Given the description of an element on the screen output the (x, y) to click on. 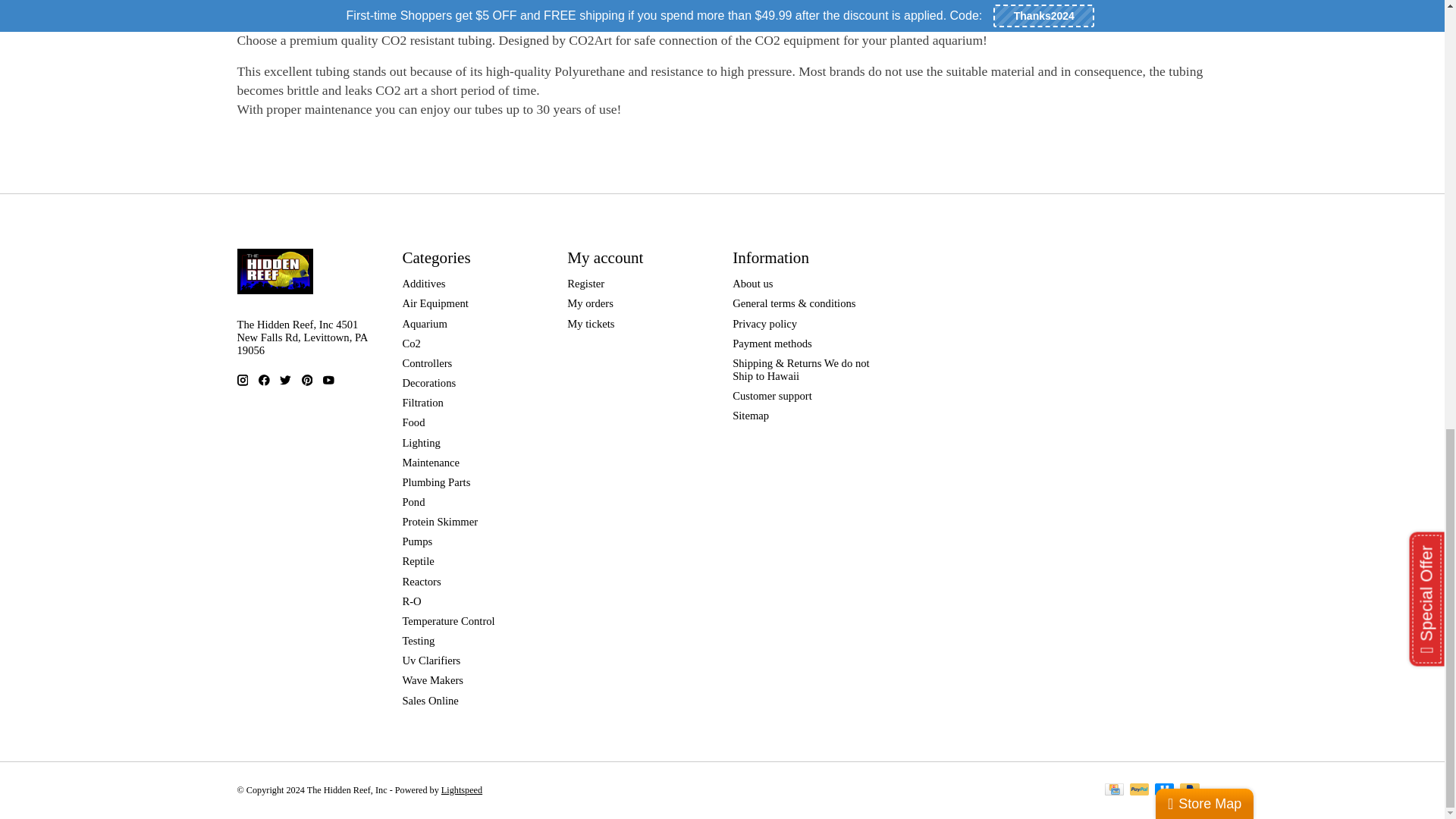
Lightspeed (461, 789)
Payment methods (772, 343)
Register (585, 283)
Sitemap (750, 415)
Privacy policy (764, 323)
Customer support (772, 395)
My tickets (590, 323)
About us (752, 283)
My orders (589, 303)
